Given the description of an element on the screen output the (x, y) to click on. 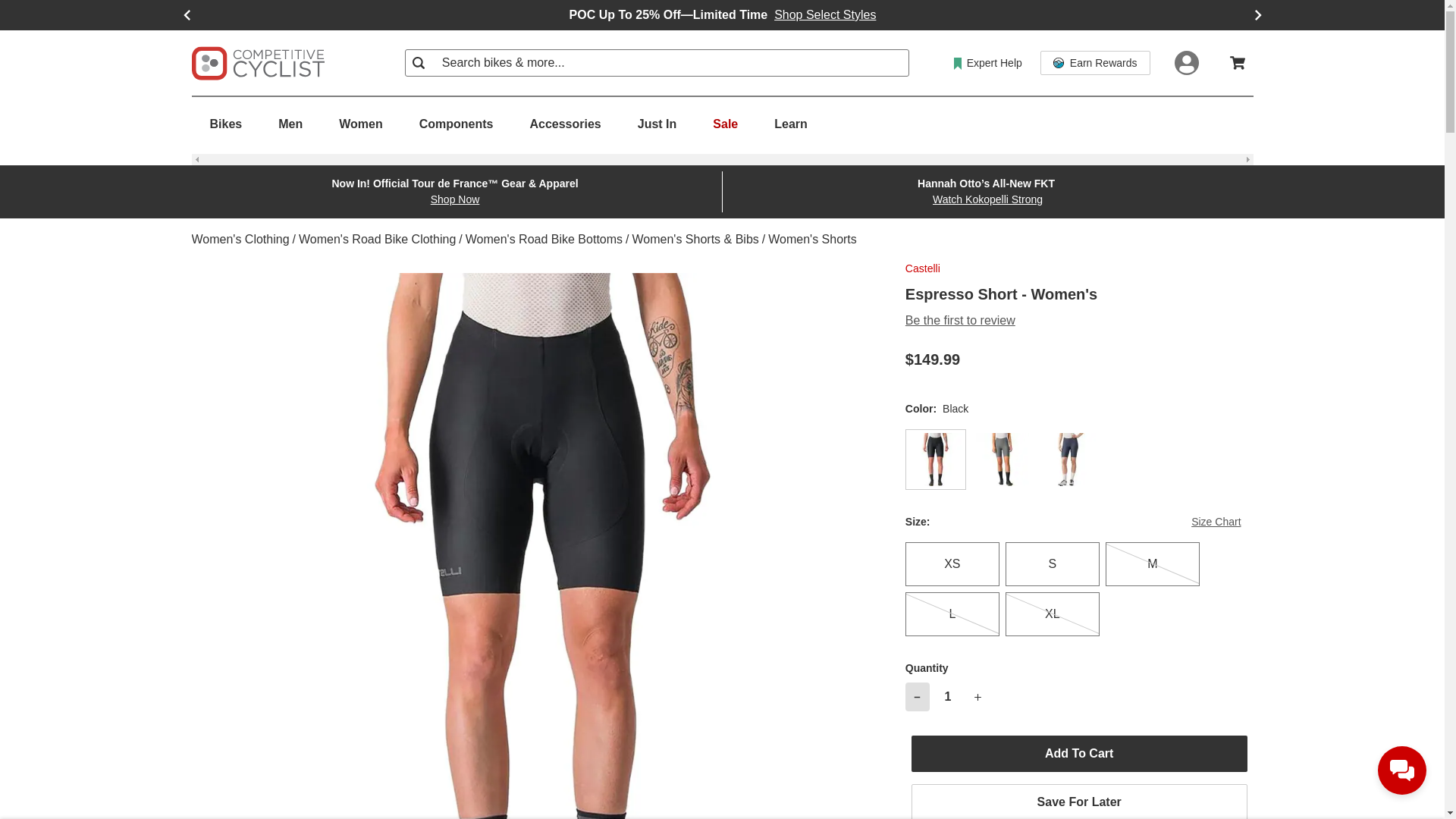
Earn Rewards (1095, 62)
Bikes (225, 124)
Cart, Contains 0 Items (1237, 62)
Home Page (256, 62)
1 (947, 696)
